Given the description of an element on the screen output the (x, y) to click on. 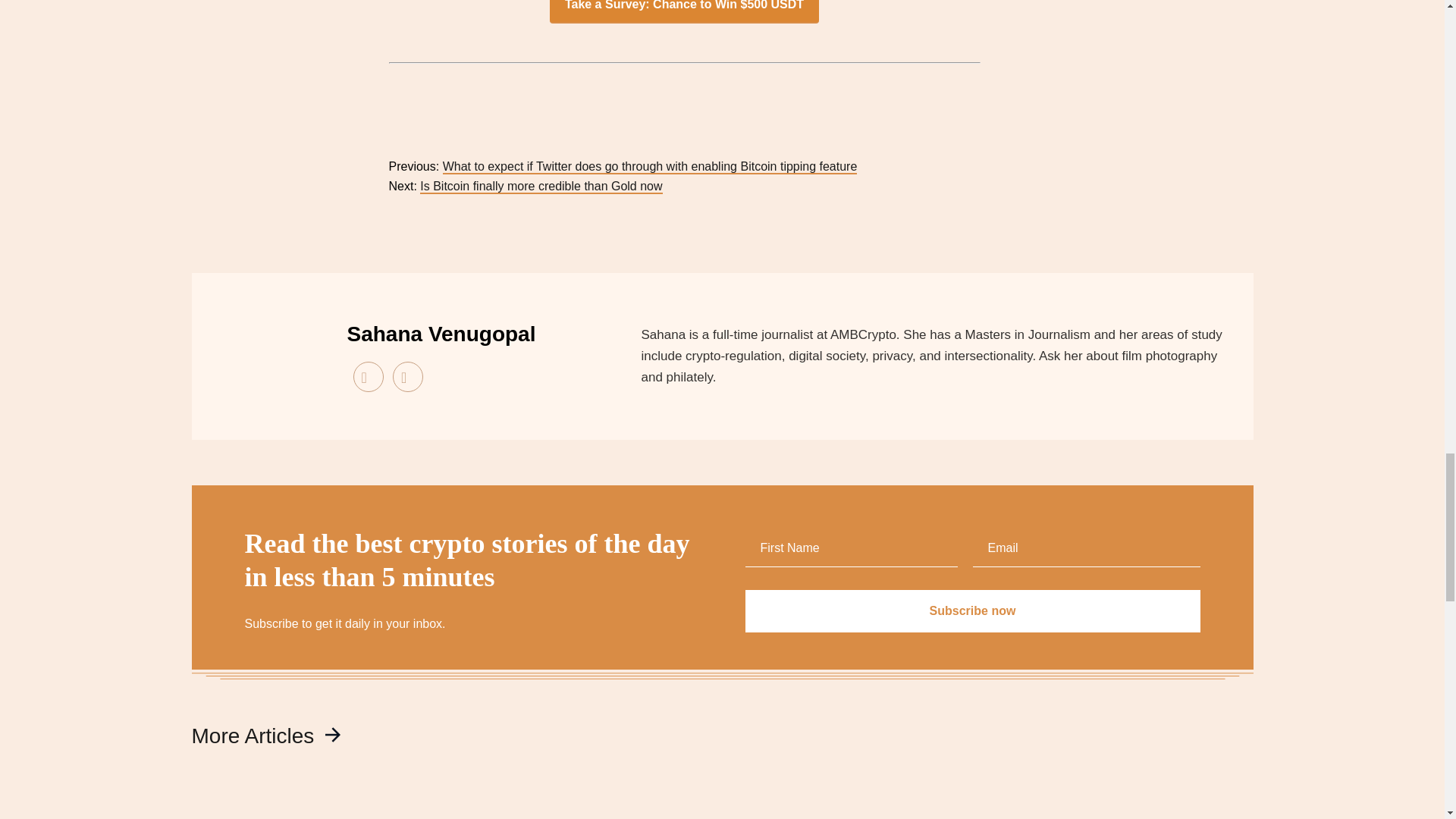
Subscribe now (971, 610)
